Given the description of an element on the screen output the (x, y) to click on. 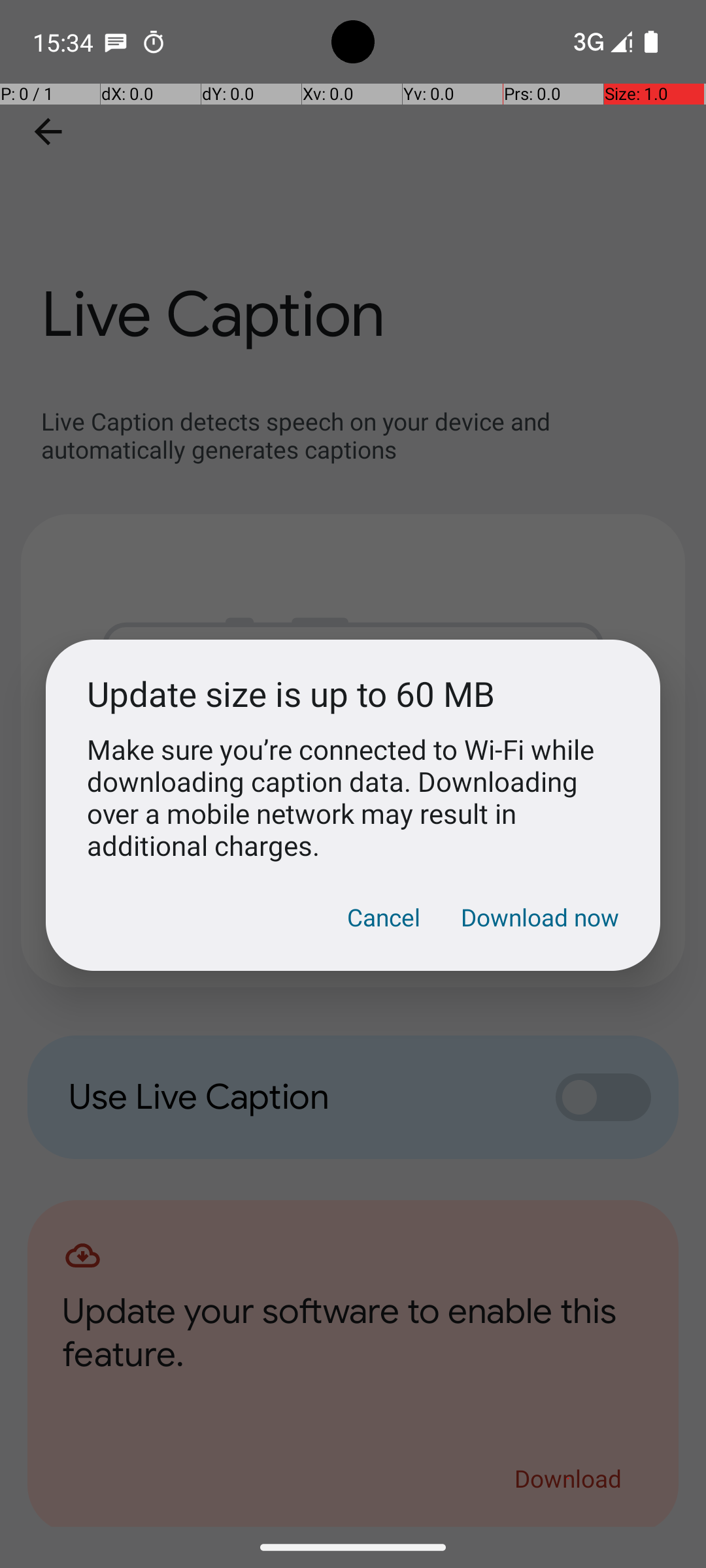
Update size is up to 60 MB Element type: android.widget.TextView (352, 693)
Make sure you’re connected to Wi-Fi while downloading caption data. Downloading over a mobile network may result in additional charges. Element type: android.widget.TextView (352, 796)
Download now Element type: android.widget.Button (539, 916)
